Given the description of an element on the screen output the (x, y) to click on. 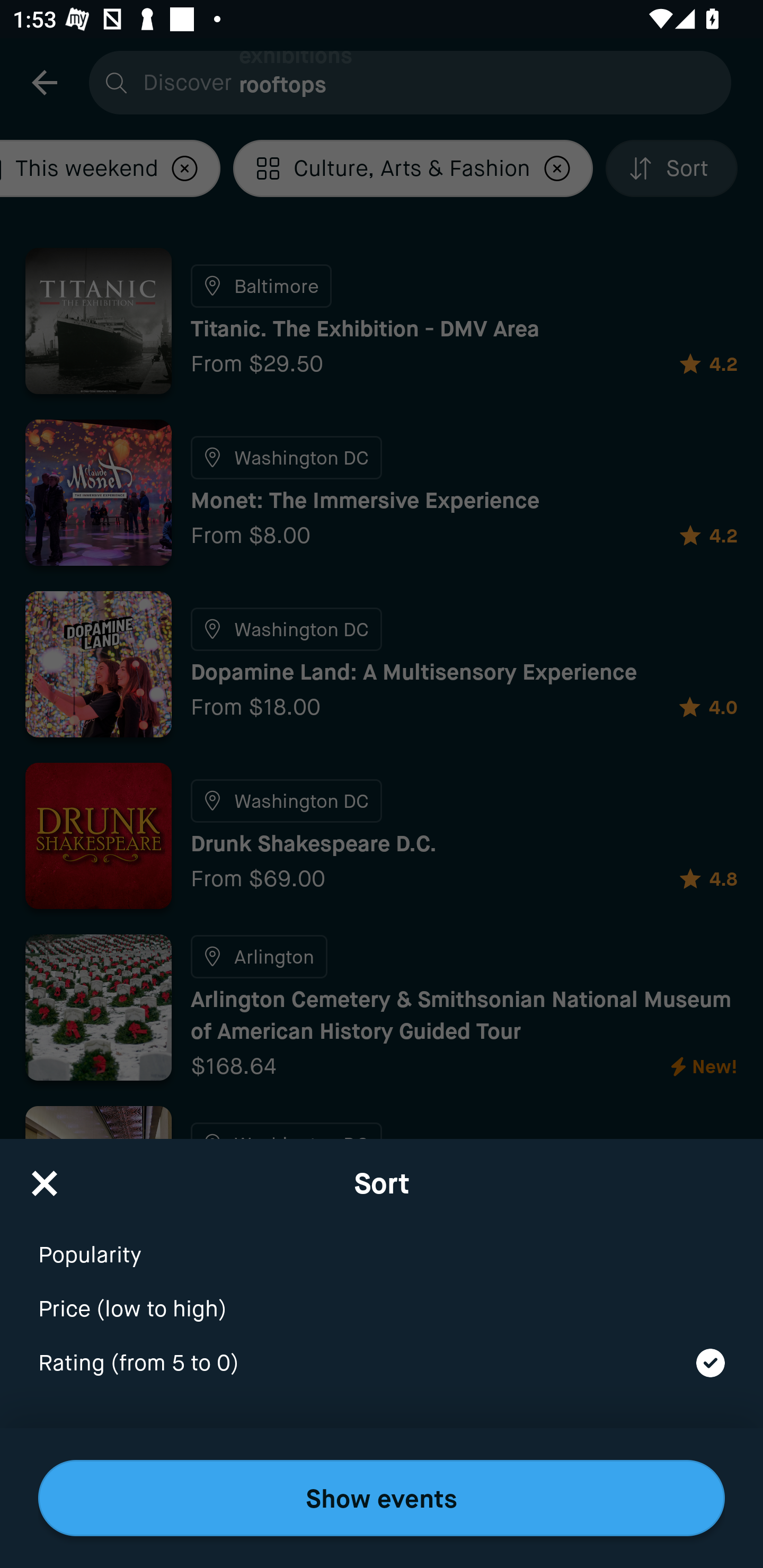
CloseButton (44, 1177)
Popularity (381, 1243)
Price (low to high) (381, 1297)
Rating (from 5 to 0) Selected Icon (381, 1362)
Show events (381, 1497)
